Given the description of an element on the screen output the (x, y) to click on. 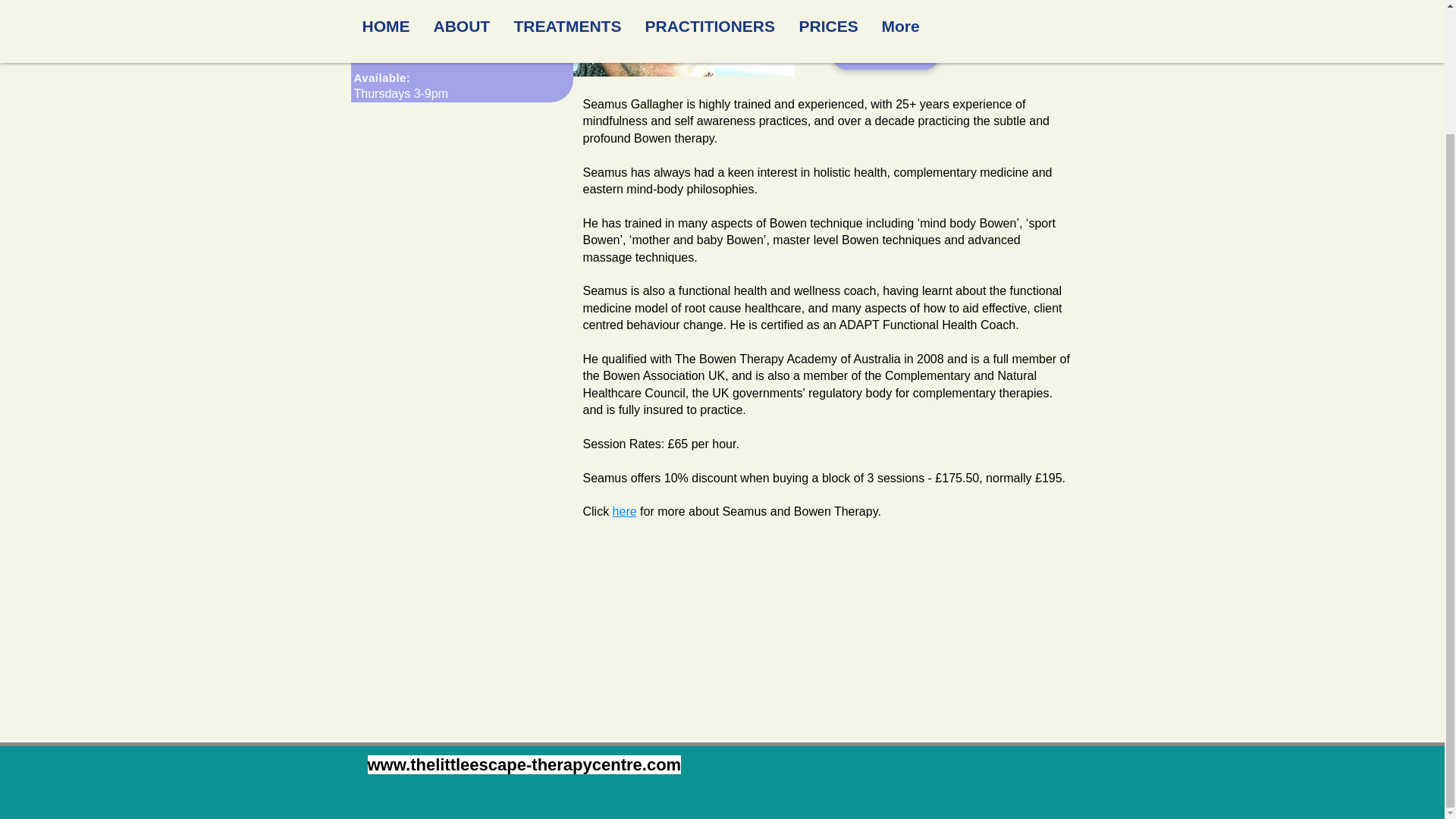
here (624, 511)
www.thelittleescape-therapycentre.com (523, 764)
Book Now (885, 54)
